Given the description of an element on the screen output the (x, y) to click on. 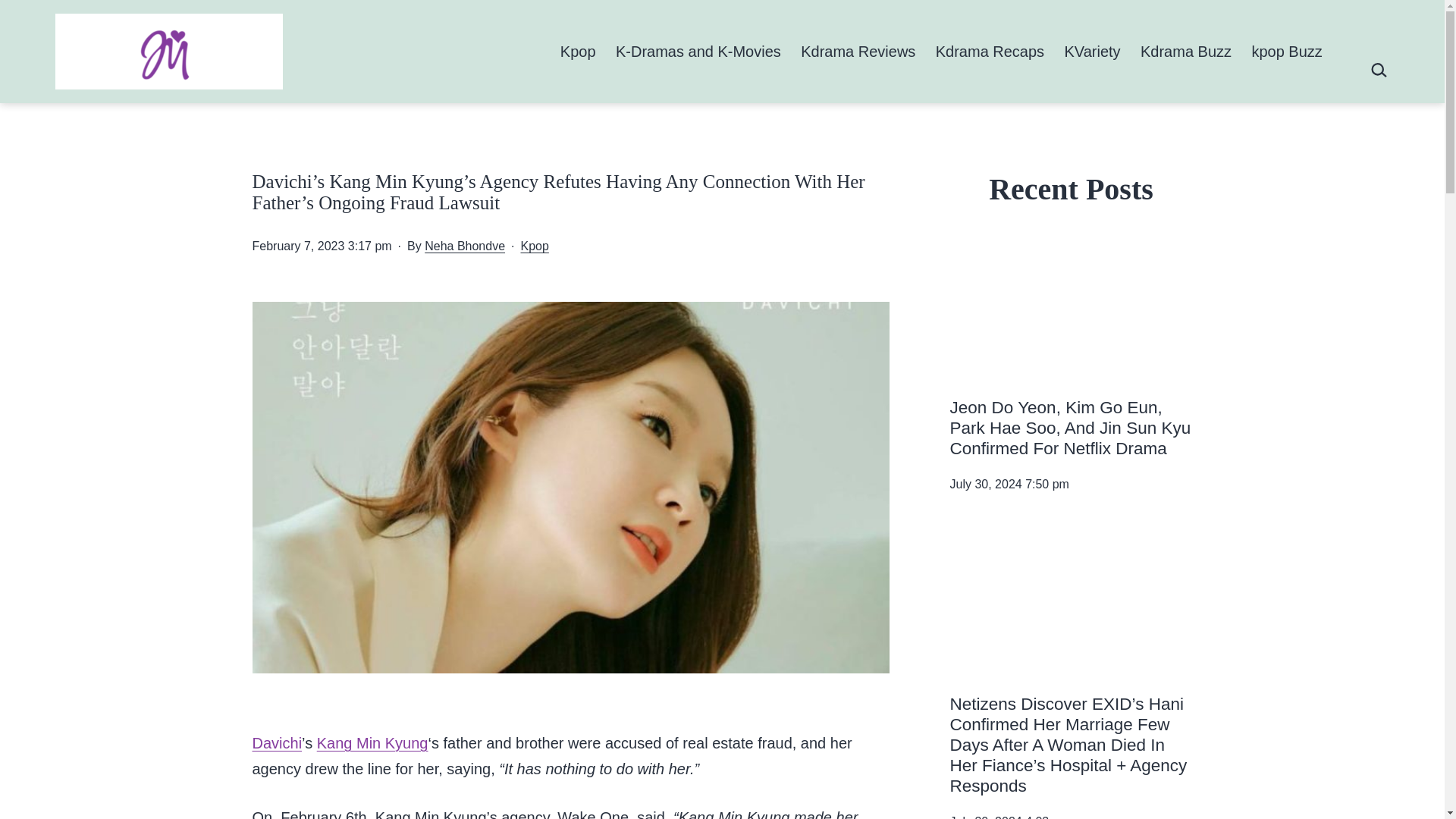
Kdrama Buzz (1186, 50)
KVariety (1091, 50)
Davichi (276, 742)
Neha Bhondve (465, 245)
Kang Min Kyung (372, 742)
kpop Buzz (1286, 50)
K-Dramas and K-Movies (697, 50)
Jeon Do Yeon Kim Go Eun Park Hae Soo And Jin Sun Kyu (1070, 307)
Kpop (533, 245)
Kdrama Recaps (990, 50)
EXIDs Hani (1070, 604)
Kdrama Reviews (858, 50)
Kpop (577, 50)
